Given the description of an element on the screen output the (x, y) to click on. 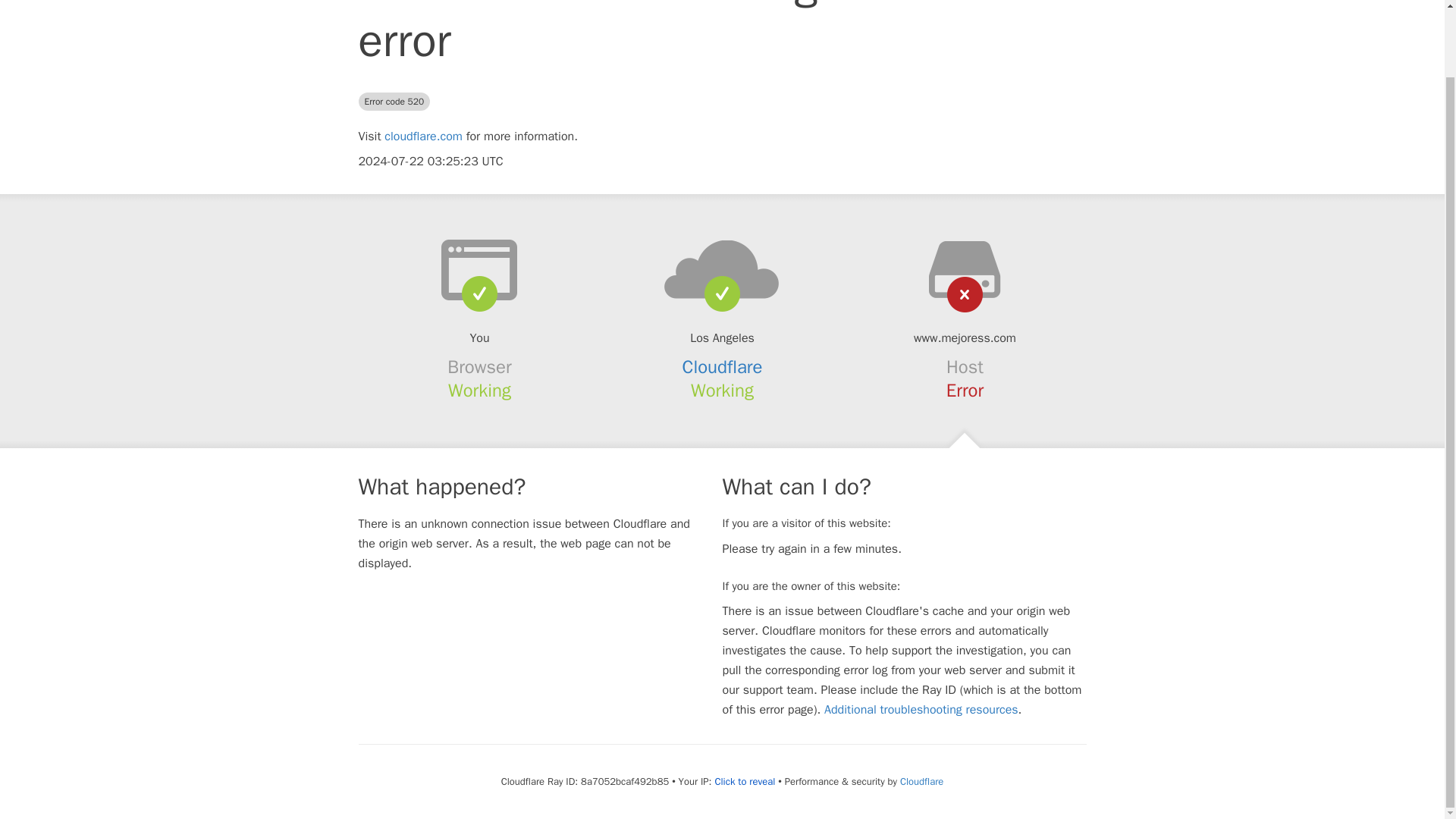
Cloudflare (722, 366)
Additional troubleshooting resources (920, 709)
Click to reveal (744, 781)
Cloudflare (921, 780)
cloudflare.com (423, 136)
